Given the description of an element on the screen output the (x, y) to click on. 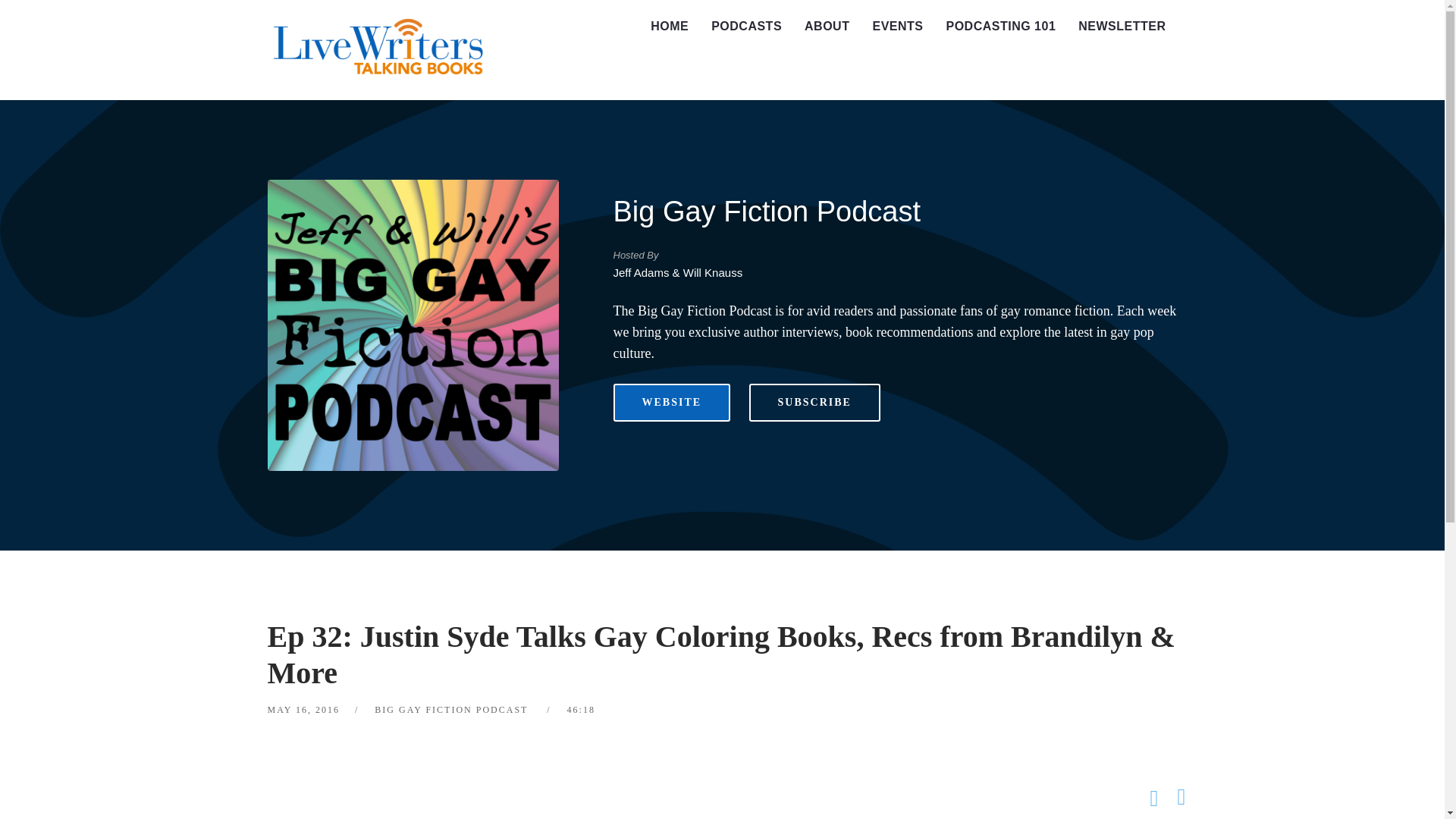
EVENTS (897, 26)
PODCASTS (746, 26)
WEBSITE (671, 402)
LiveWriters (380, 49)
SUBSCRIBE (814, 402)
NEWSLETTER (1121, 26)
HOME (669, 26)
ABOUT (826, 26)
PODCASTING 101 (1000, 26)
Big Gay Fiction Podcast (766, 211)
